Given the description of an element on the screen output the (x, y) to click on. 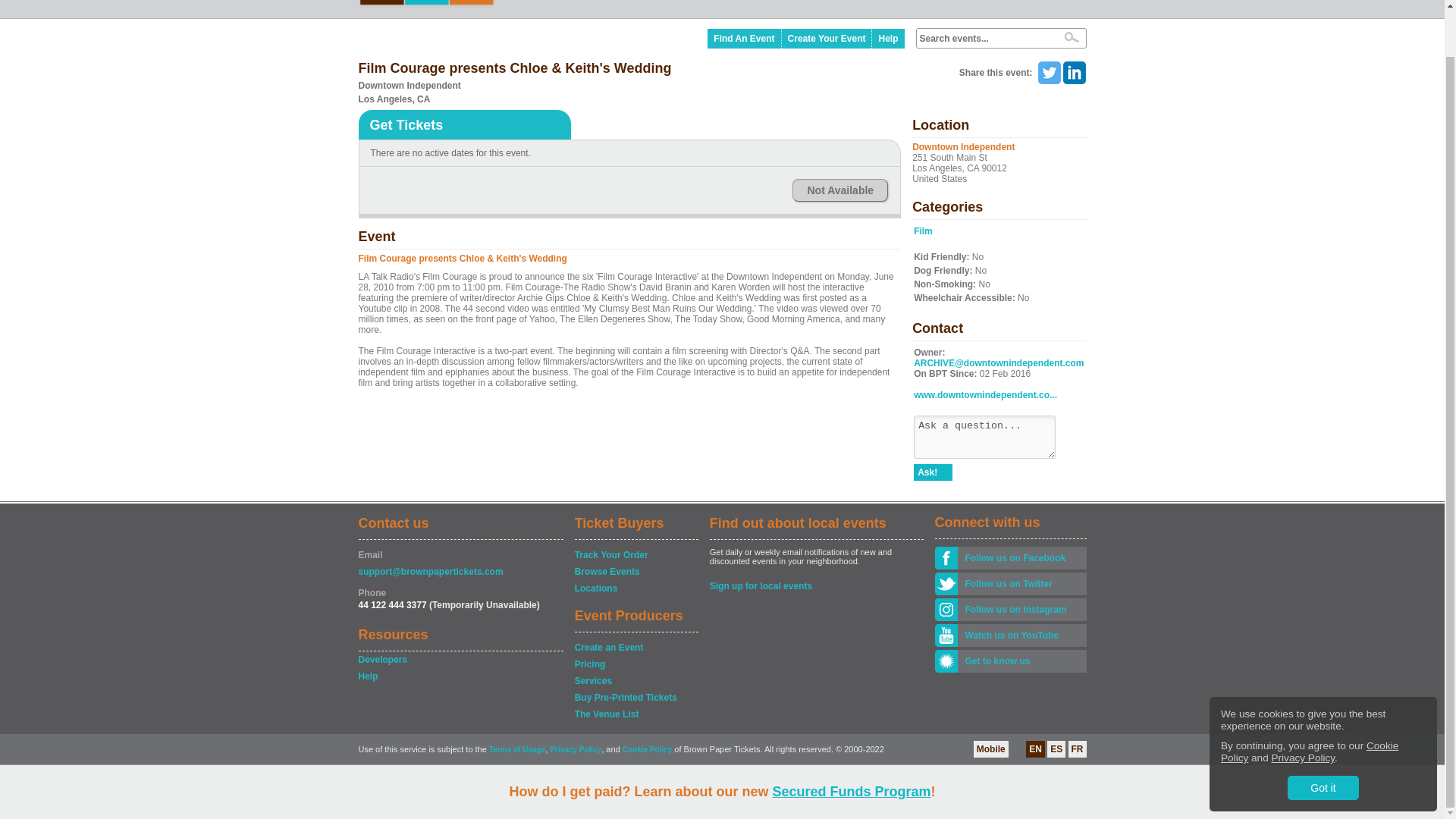
Buy Pre-Printed Tickets (636, 697)
Help (460, 676)
Search Events (1070, 36)
Track Your Order (636, 554)
Film (923, 231)
Secured Funds Program (850, 741)
Services (636, 680)
Cookie Policy (1309, 701)
Privacy Policy (1303, 707)
Developers (460, 659)
